Given the description of an element on the screen output the (x, y) to click on. 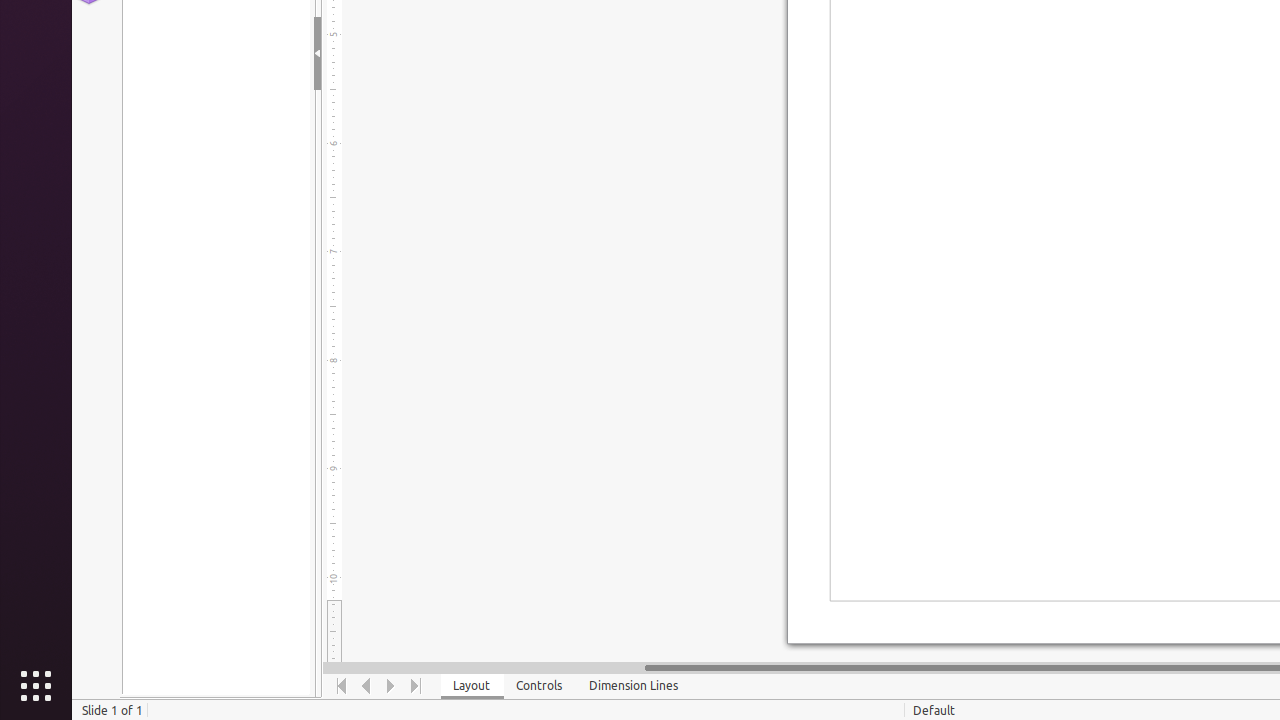
Move To Home Element type: push-button (341, 686)
Dimension Lines Element type: page-tab (634, 686)
Layout Element type: page-tab (472, 686)
